Given the description of an element on the screen output the (x, y) to click on. 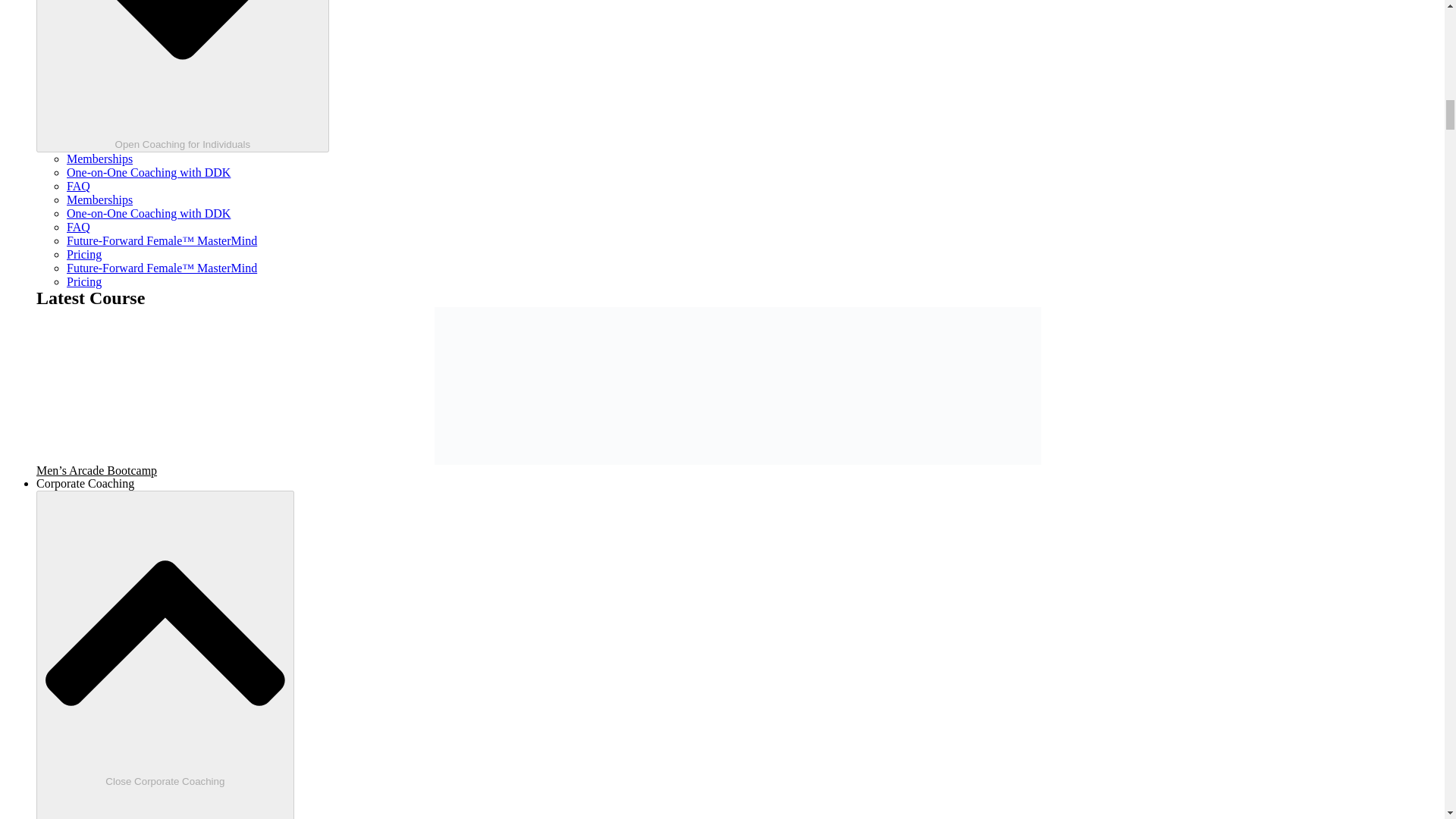
Memberships (99, 158)
FAQ (78, 226)
One-on-One Coaching with DDK (148, 213)
FAQ (78, 185)
Close Coaching for Individuals Open Coaching for Individuals (182, 76)
One-on-One Coaching with DDK (148, 172)
Memberships (99, 199)
